Given the description of an element on the screen output the (x, y) to click on. 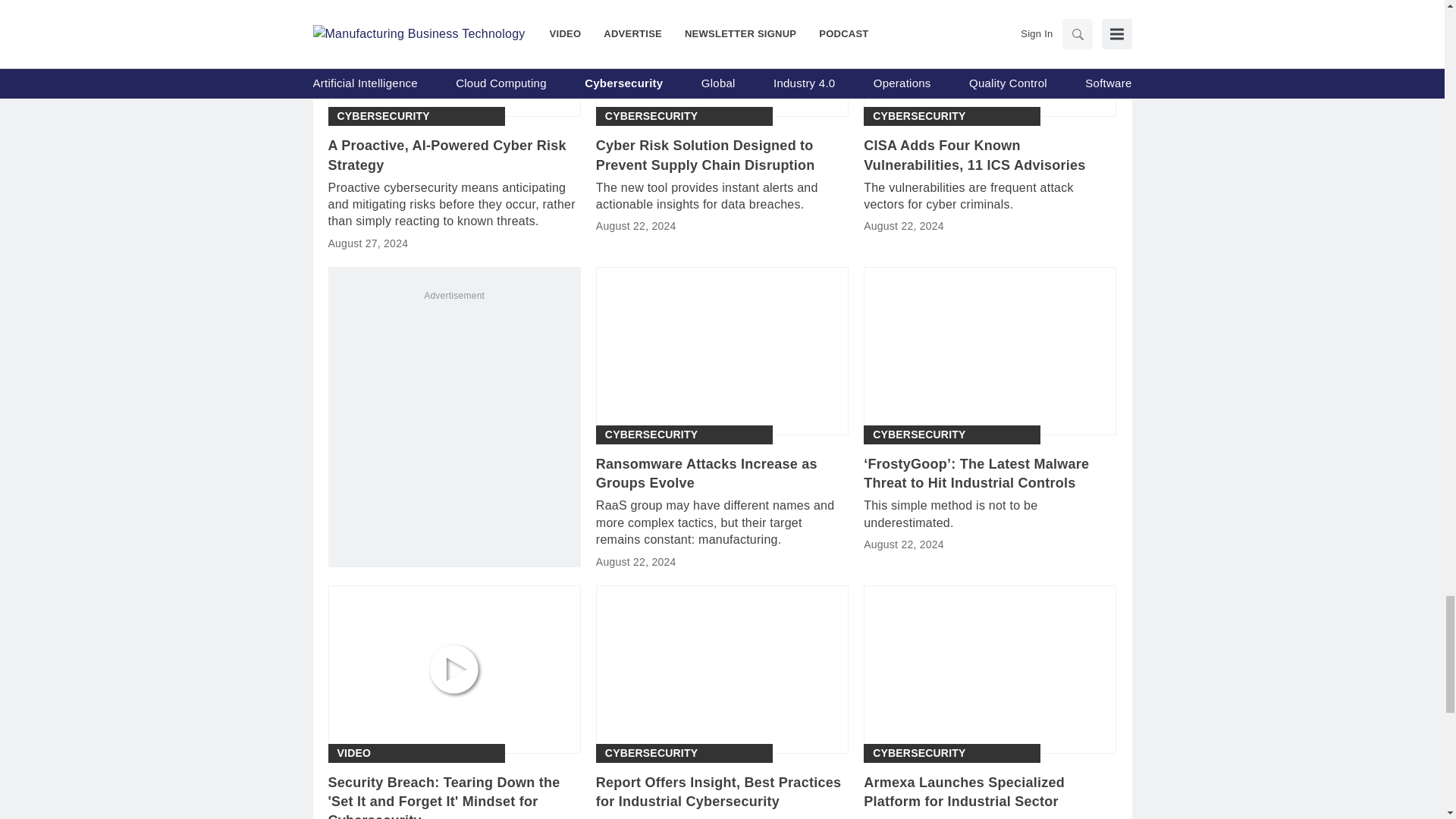
Cybersecurity (918, 116)
Cybersecurity (651, 116)
Cybersecurity (918, 434)
Cybersecurity (651, 434)
Cybersecurity (382, 116)
